Given the description of an element on the screen output the (x, y) to click on. 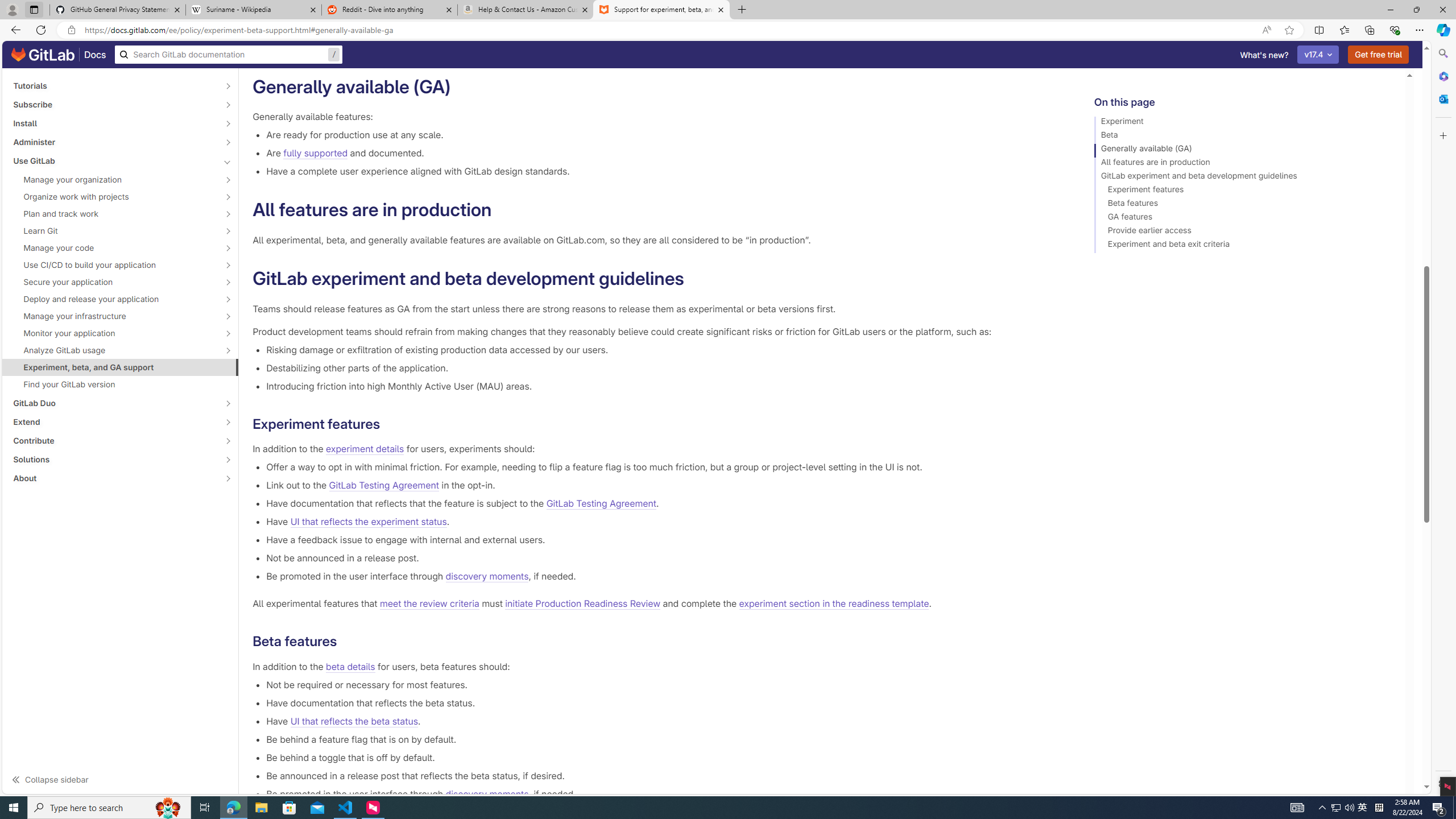
UI that reflects the experiment status (367, 521)
Get free trial (1378, 54)
/ (229, 54)
Get free trial (1378, 54)
Destabilizing other parts of the application. (662, 367)
Be behind a feature flag that is on by default. (662, 739)
Beta features (1244, 205)
All features are in production (1244, 164)
